Given the description of an element on the screen output the (x, y) to click on. 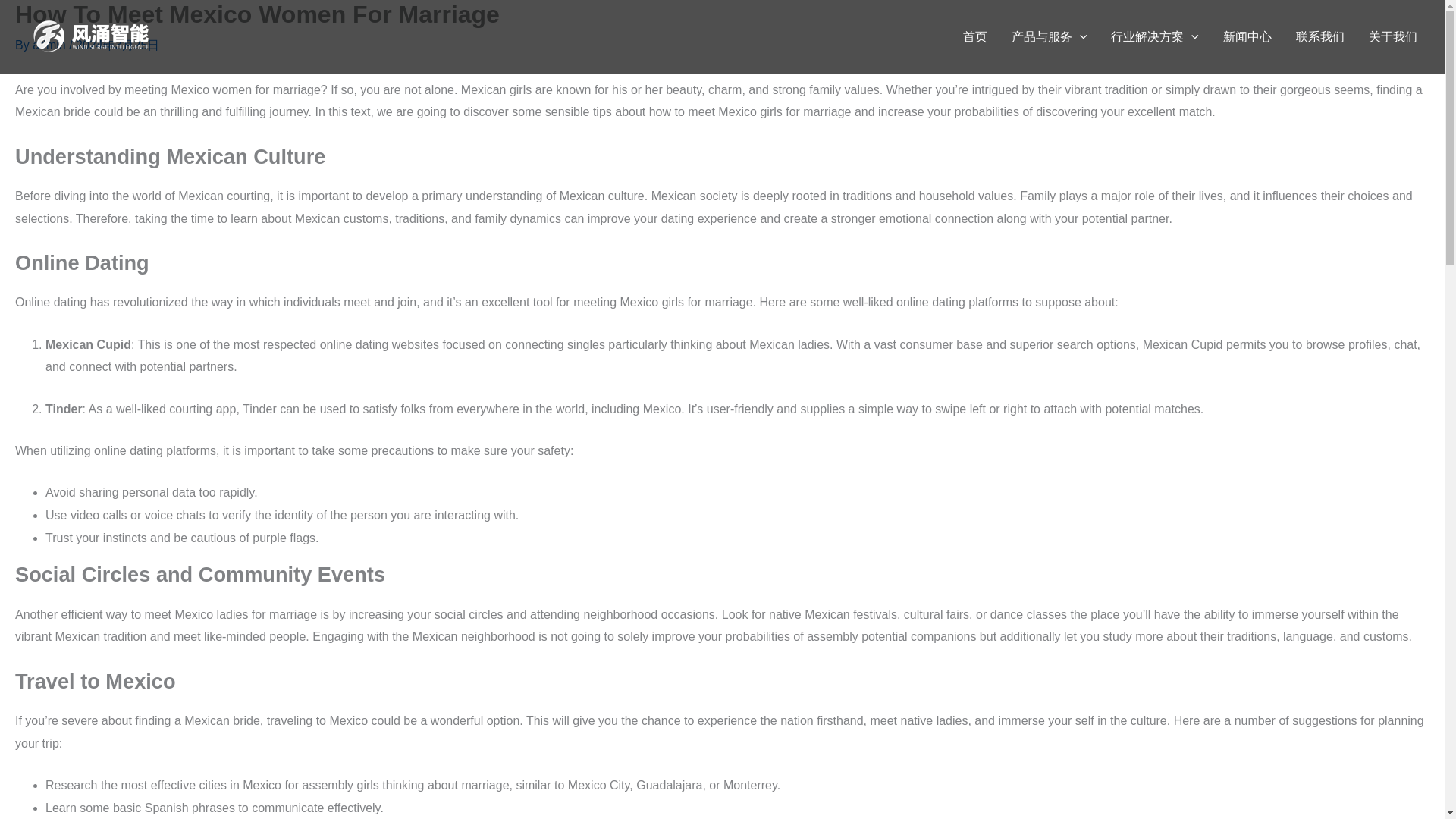
View all posts by admin (50, 44)
